Given the description of an element on the screen output the (x, y) to click on. 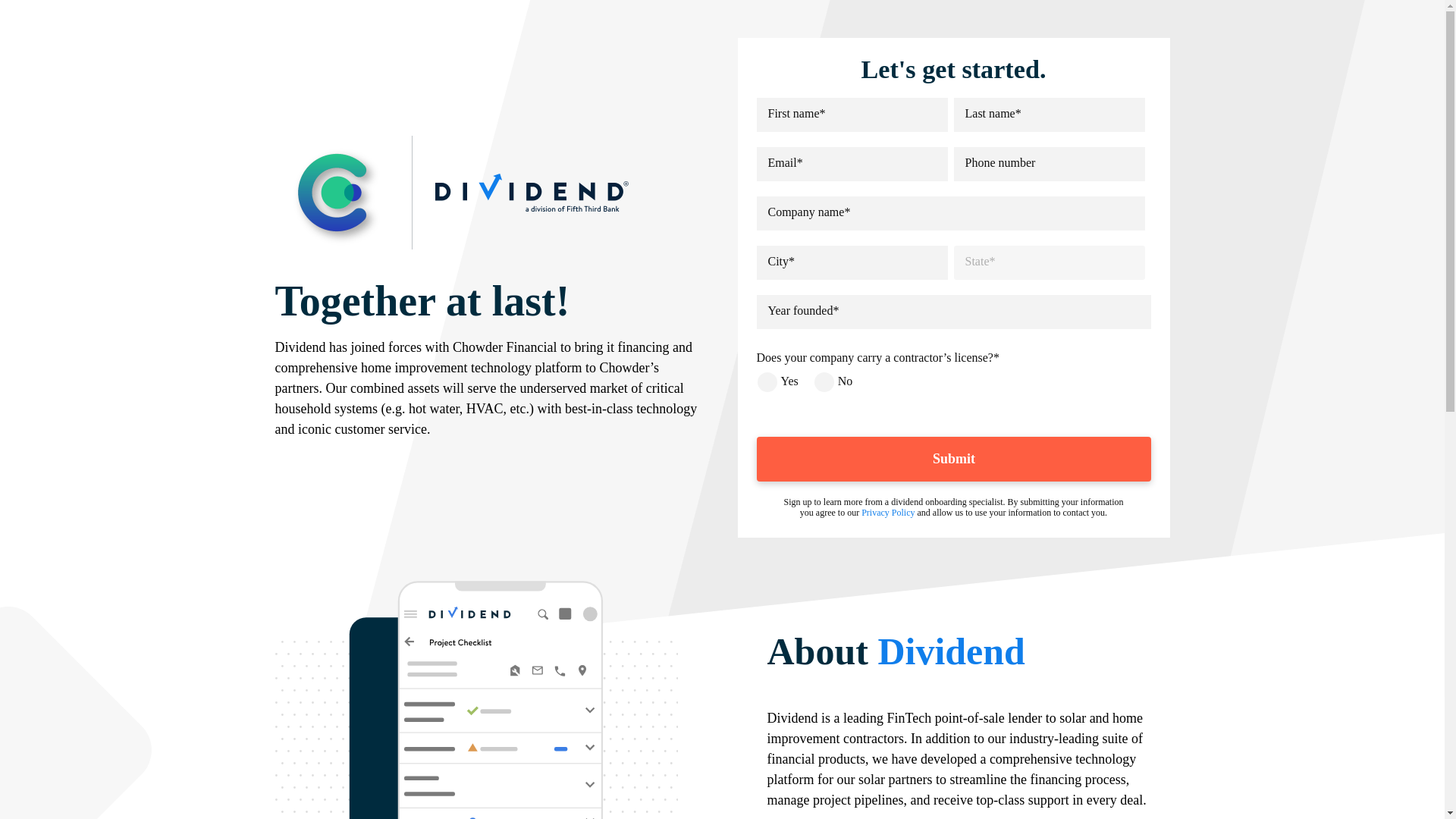
No (822, 381)
Yes (766, 381)
Privacy Policy (887, 511)
Submit (954, 458)
Submit (954, 458)
